Given the description of an element on the screen output the (x, y) to click on. 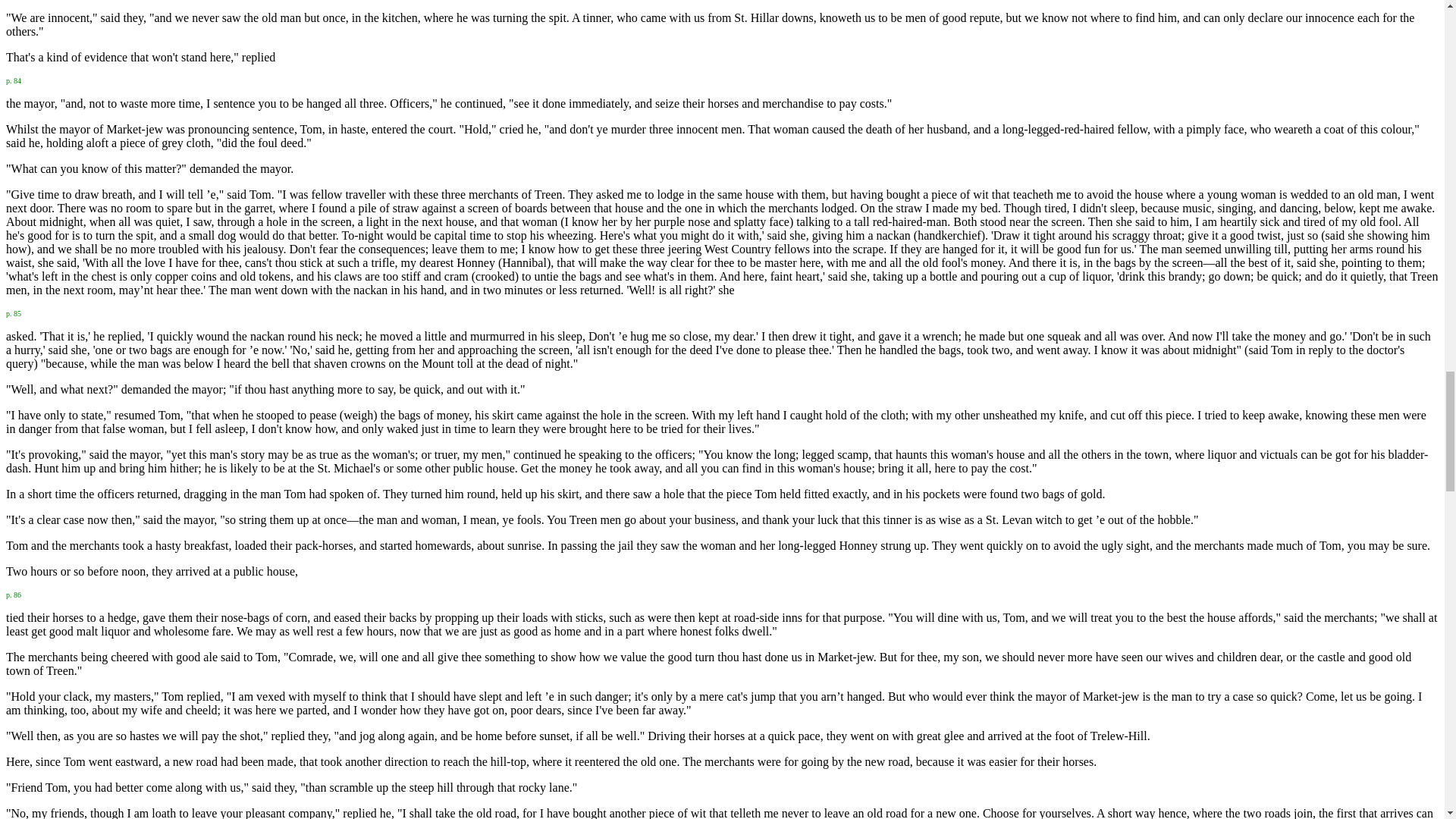
p. 84 (13, 78)
p. 85 (13, 311)
p. 86 (13, 593)
